Given the description of an element on the screen output the (x, y) to click on. 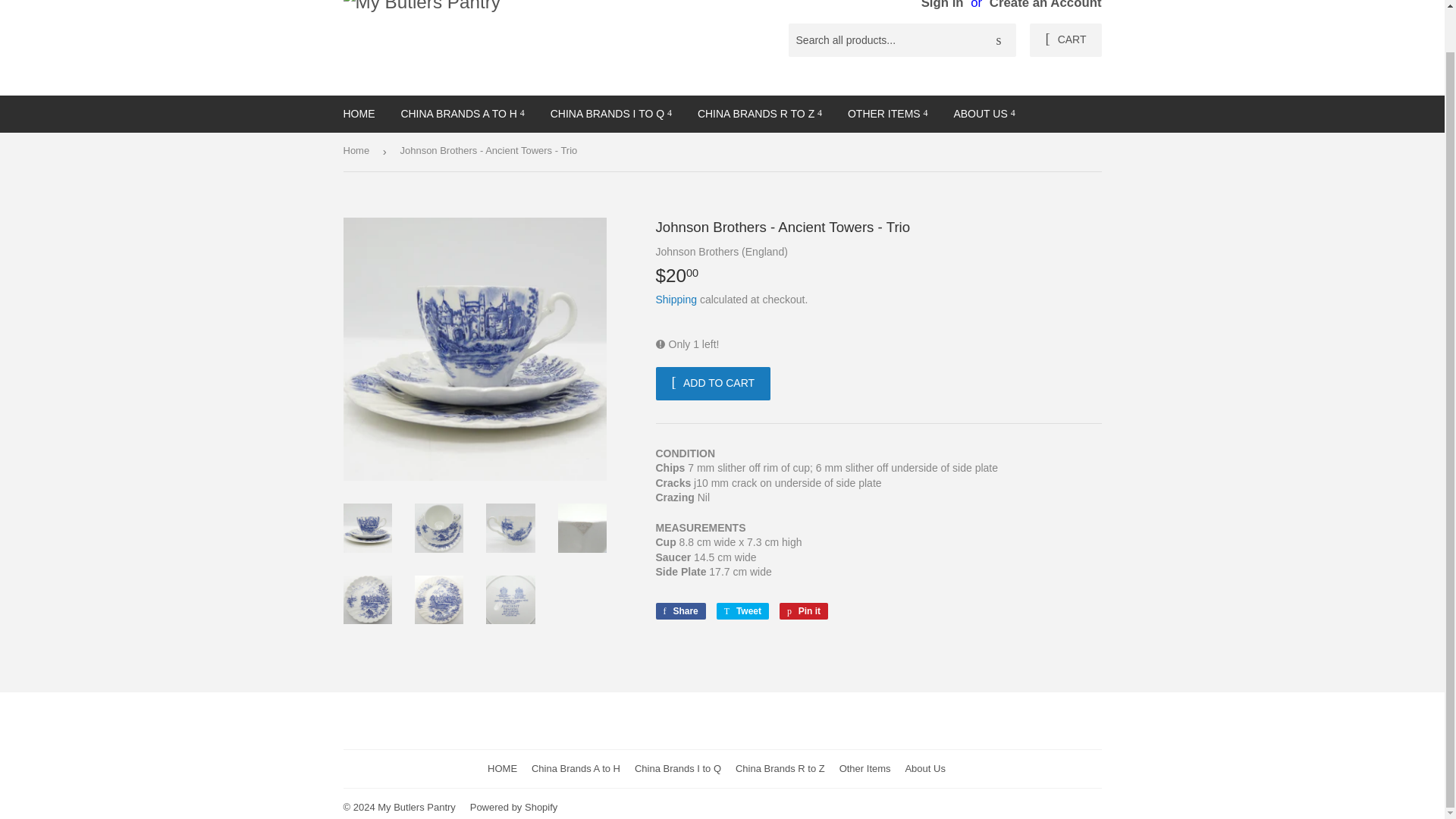
Sign in (942, 4)
Create an Account (1046, 4)
CART (1064, 39)
Share on Facebook (679, 610)
Pin on Pinterest (803, 610)
Tweet on Twitter (742, 610)
Search (998, 40)
